Given the description of an element on the screen output the (x, y) to click on. 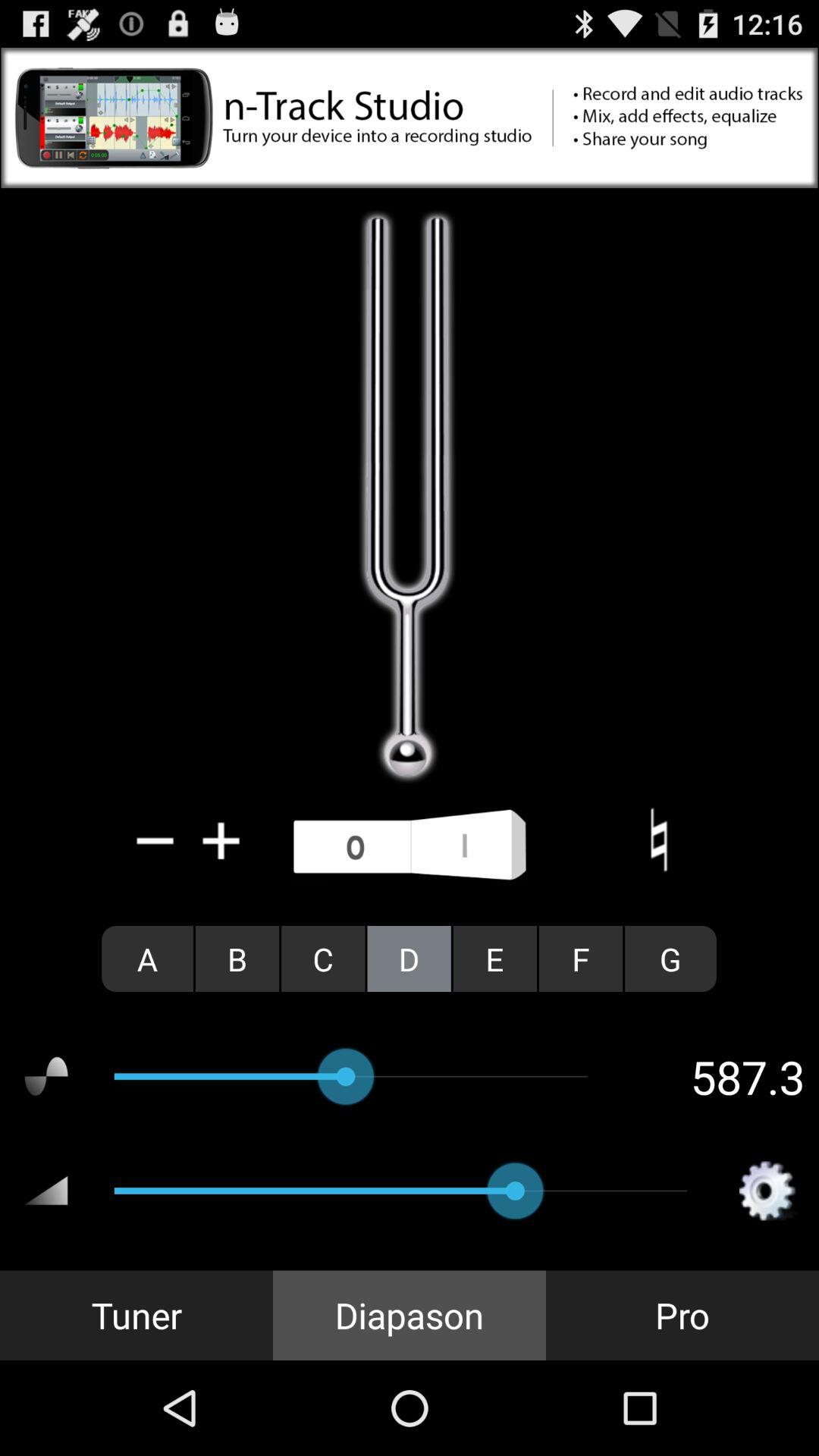
click the g item (670, 958)
